Given the description of an element on the screen output the (x, y) to click on. 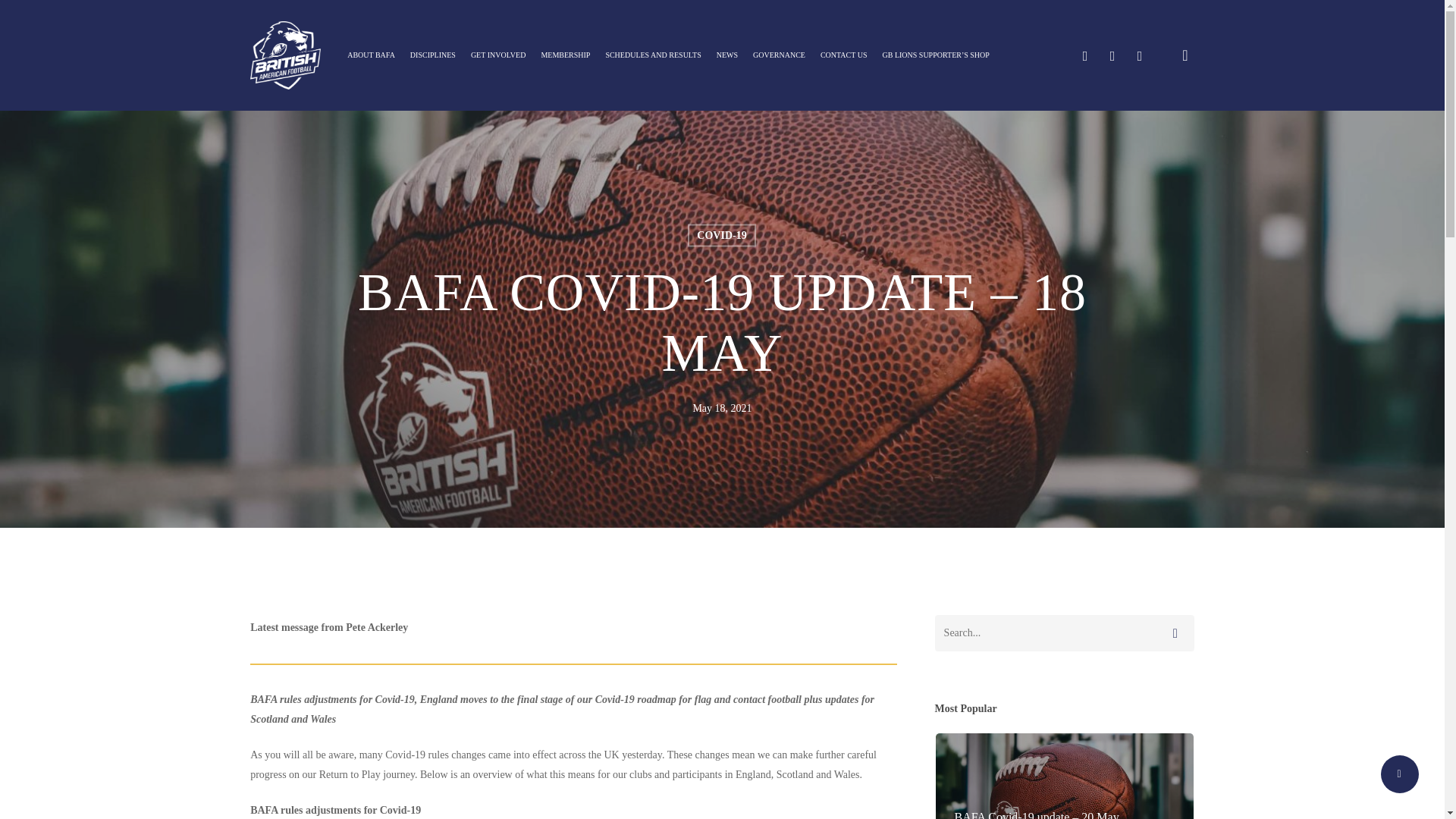
DISCIPLINES (433, 54)
GET INVOLVED (498, 54)
ABOUT BAFA (371, 54)
Search for: (1063, 633)
